Given the description of an element on the screen output the (x, y) to click on. 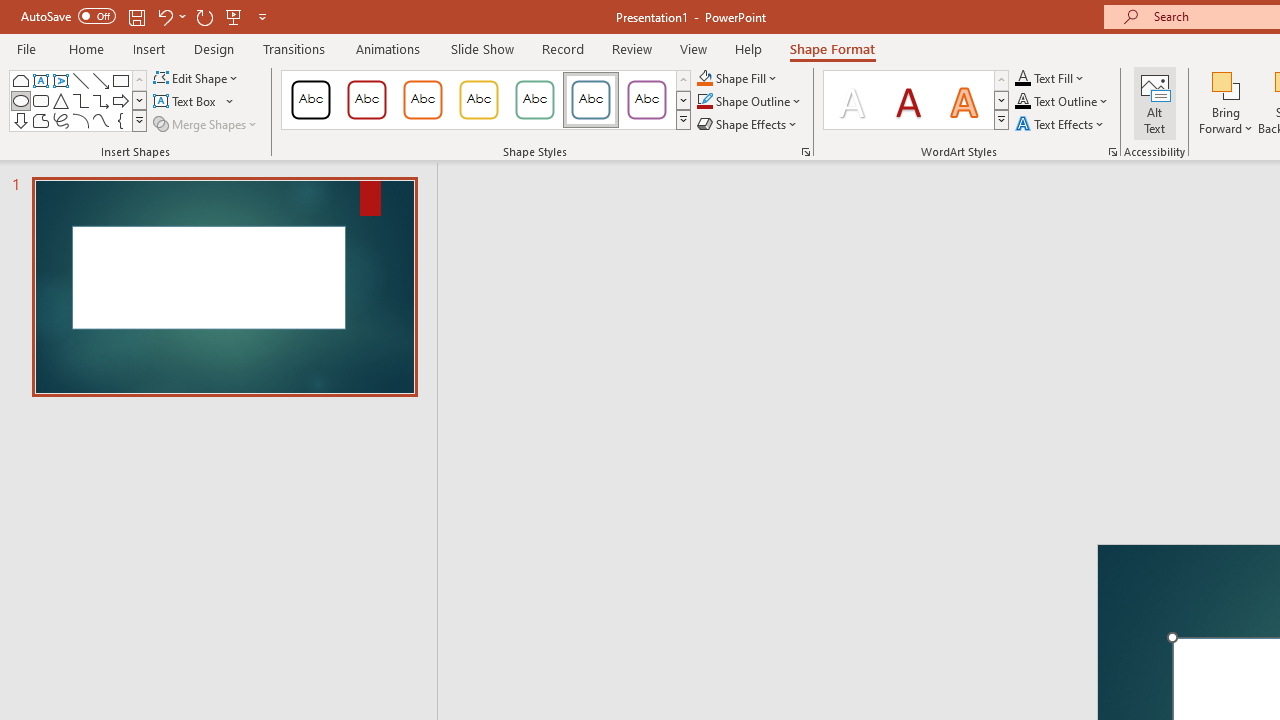
Text Fill (1050, 78)
AutomationID: ShapesInsertGallery (78, 100)
Text Outline RGB(0, 0, 0) (1023, 101)
Alt Text (1155, 102)
Freeform: Scribble (60, 120)
Quick Styles (1001, 120)
Colored Outline - Purple, Accent 6 (646, 100)
Rectangle (120, 80)
Arrow: Down (20, 120)
